Given the description of an element on the screen output the (x, y) to click on. 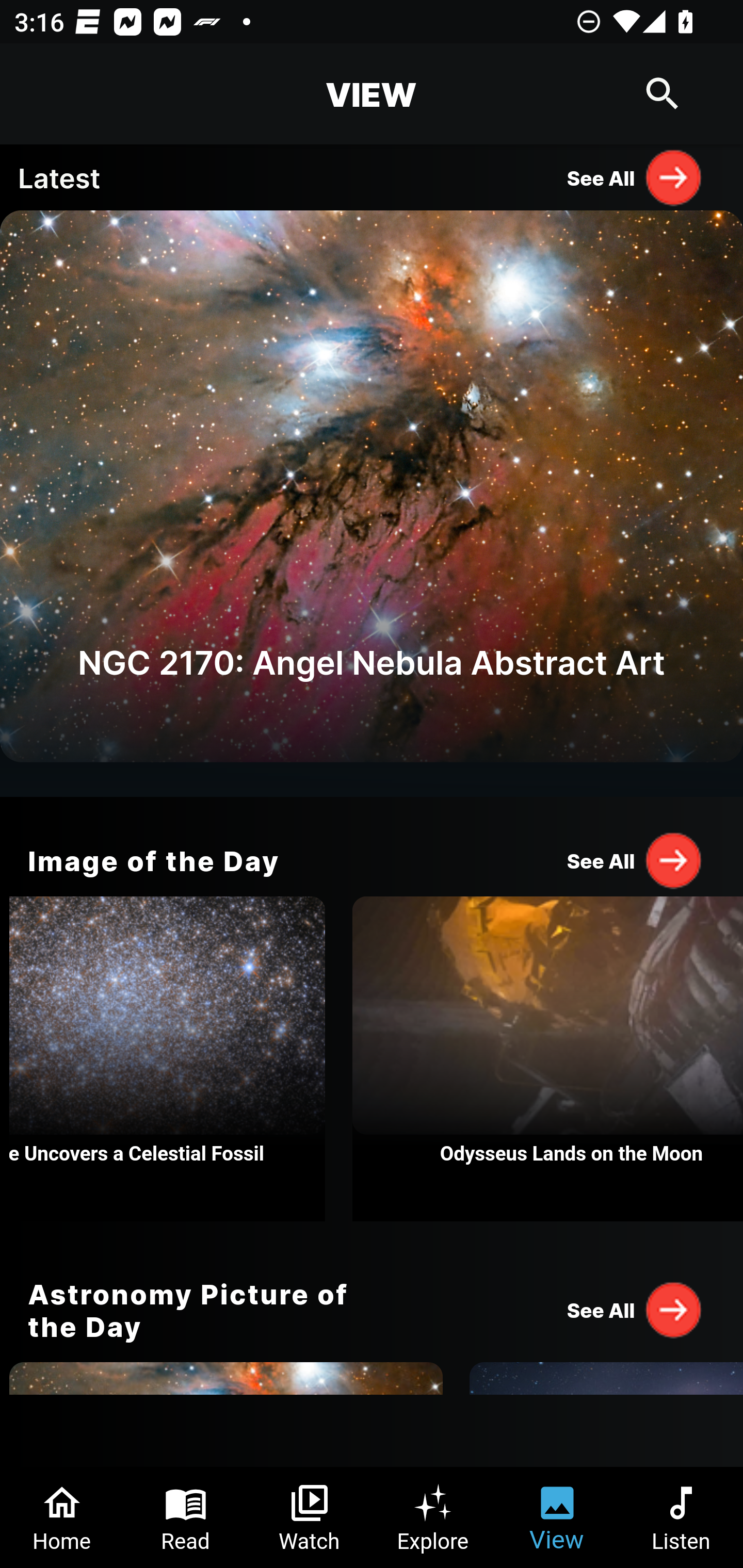
See All (634, 177)
NGC 2170: Angel Nebula Abstract Art
Hello World (371, 503)
See All (634, 860)
Hubble Uncovers a Celestial Fossil (166, 1058)
Odysseus Lands on the Moon (547, 1058)
See All (634, 1309)
Home
Tab 1 of 6 (62, 1517)
Read
Tab 2 of 6 (185, 1517)
Watch
Tab 3 of 6 (309, 1517)
Explore
Tab 4 of 6 (433, 1517)
View
Tab 5 of 6 (556, 1517)
Listen
Tab 6 of 6 (680, 1517)
